Given the description of an element on the screen output the (x, y) to click on. 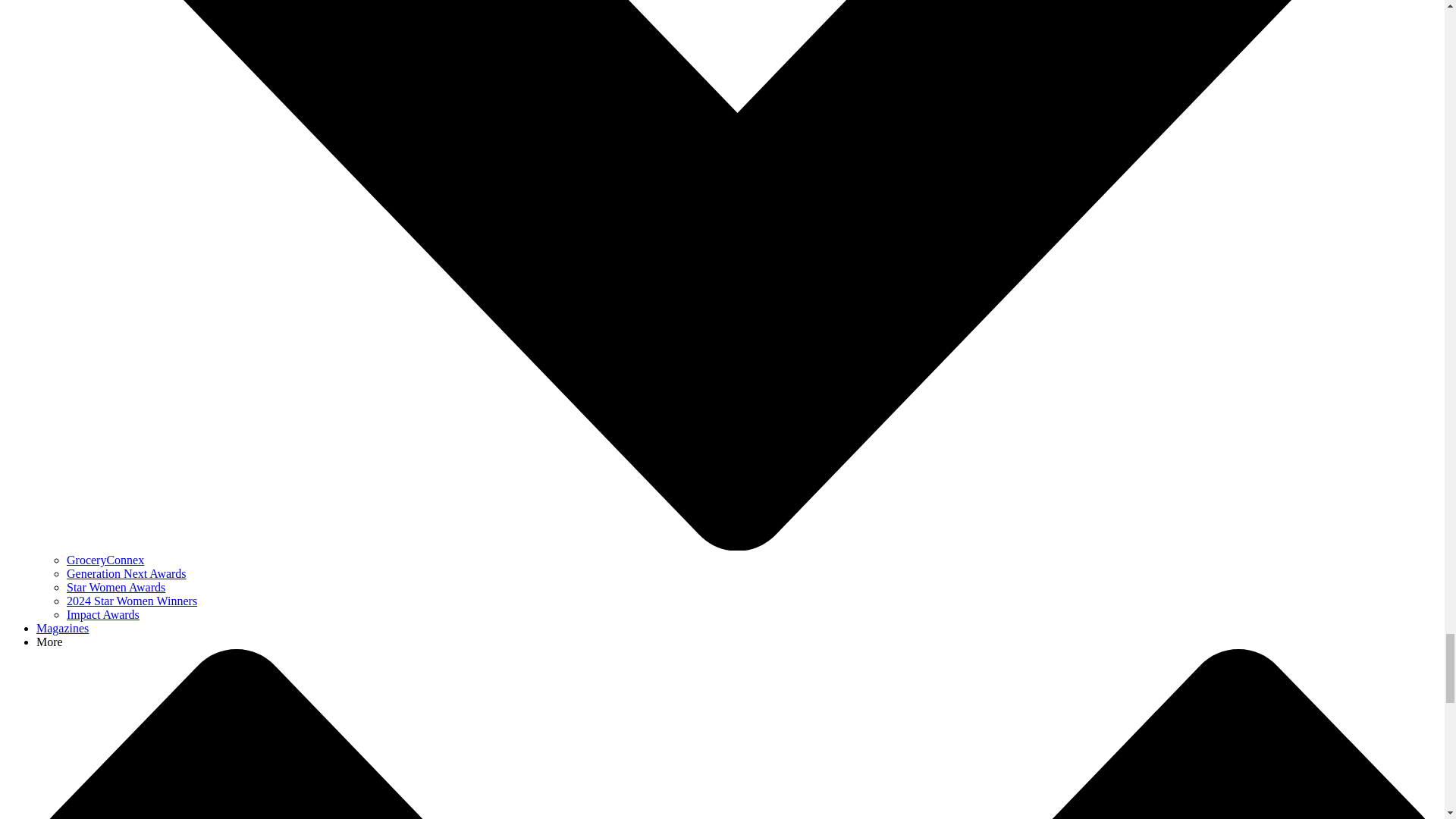
Generation Next Awards (126, 573)
Impact Awards (102, 614)
Star Women Awards (115, 586)
GroceryConnex (105, 559)
More (49, 641)
Magazines (62, 627)
2024 Star Women Winners (131, 600)
